Given the description of an element on the screen output the (x, y) to click on. 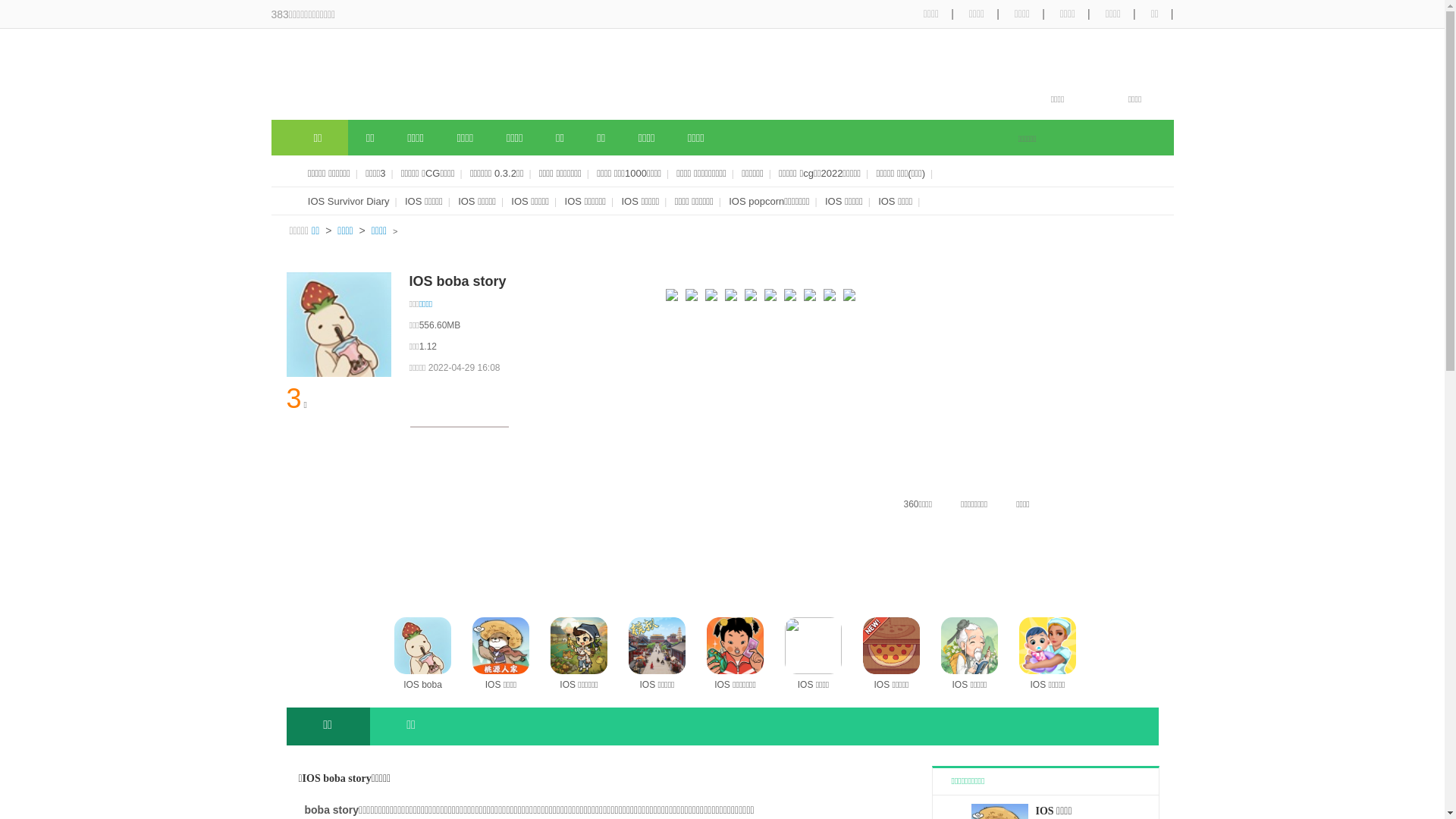
IOS Survivor Diary Element type: text (348, 201)
IOS boba story Element type: text (422, 654)
APPStore Element type: text (338, 439)
